Given the description of an element on the screen output the (x, y) to click on. 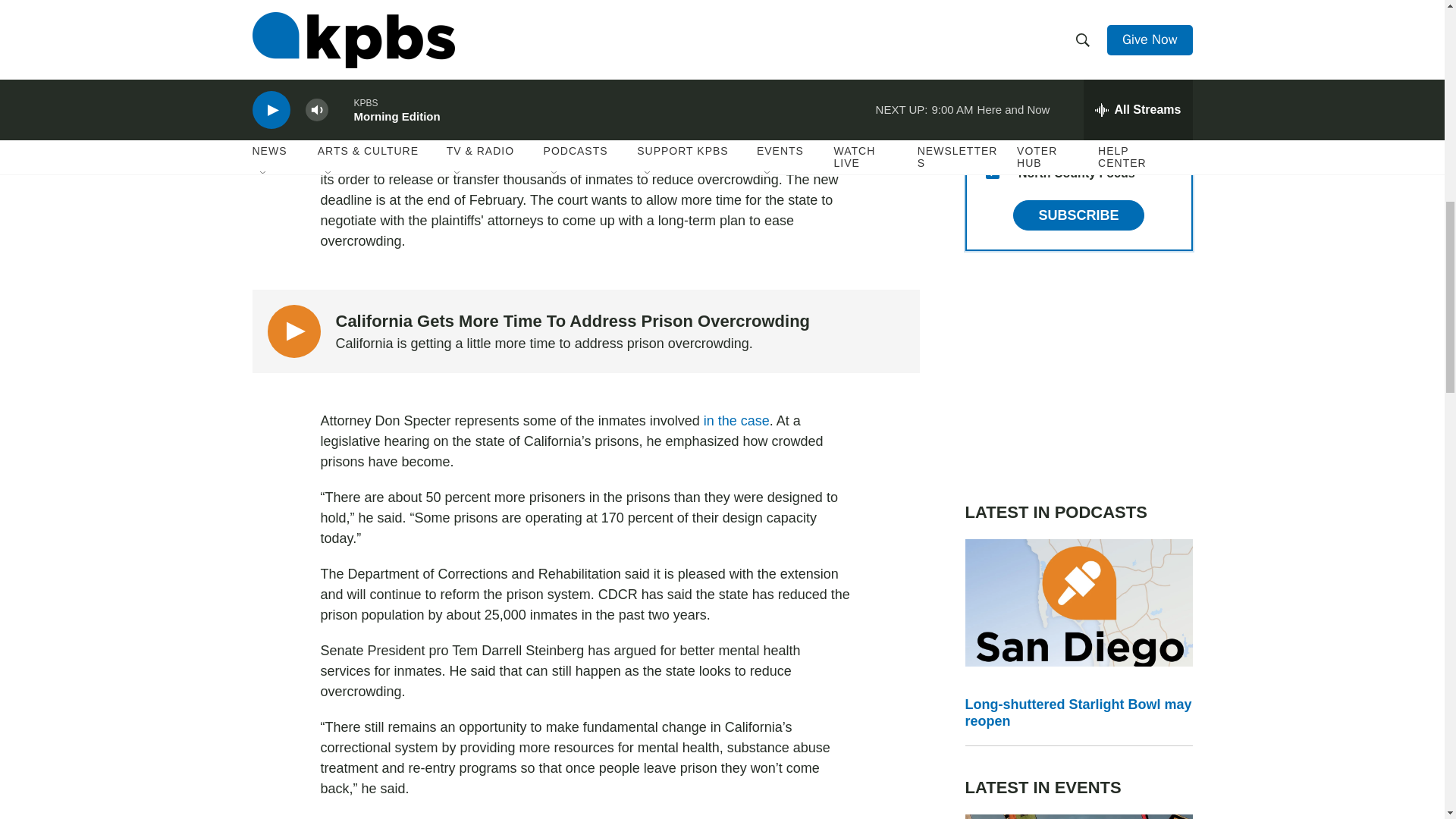
8 (991, 135)
1 (991, 99)
6 (991, 26)
2 (991, 62)
15 (991, 172)
